Given the description of an element on the screen output the (x, y) to click on. 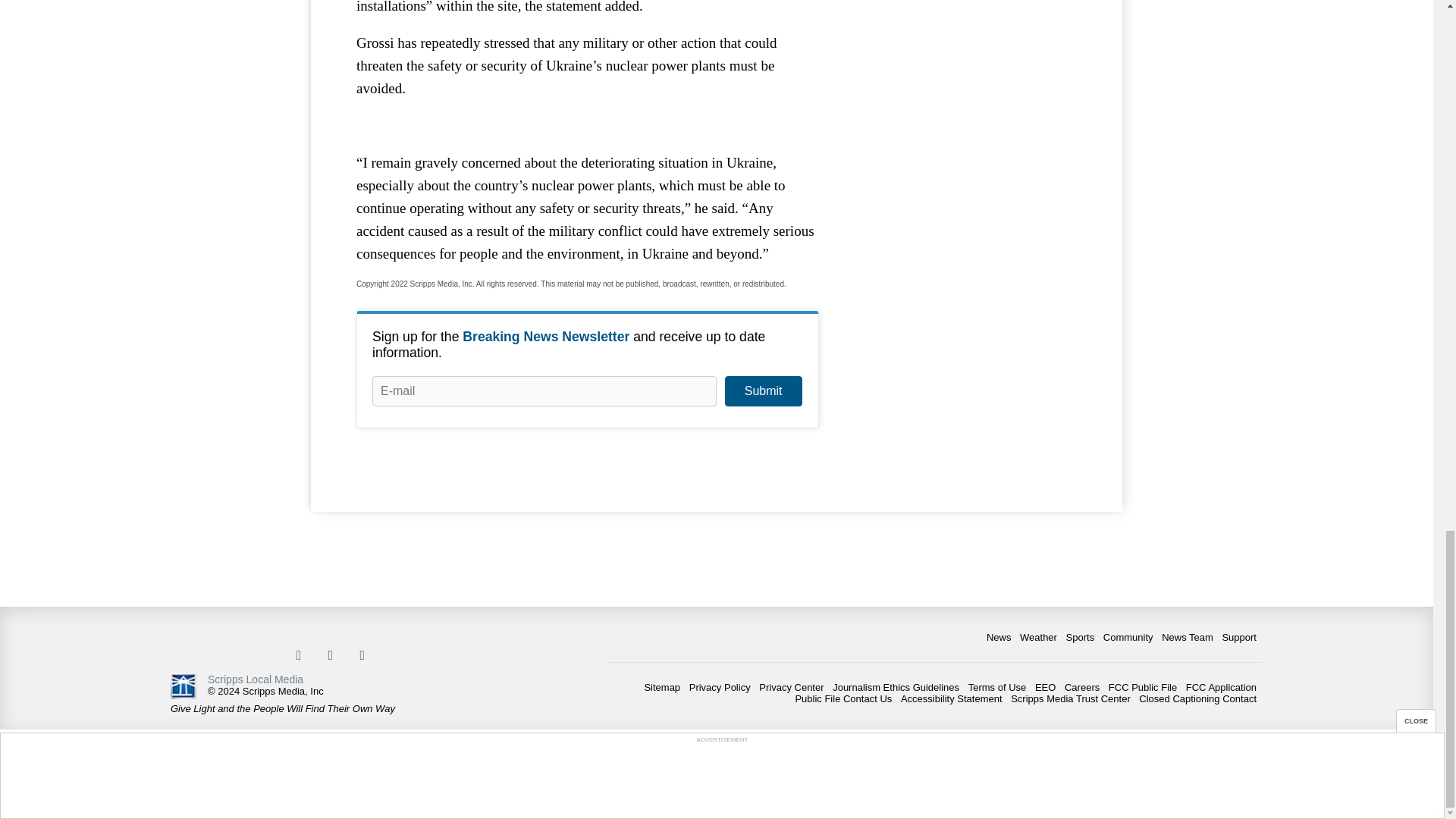
Submit (763, 390)
